Given the description of an element on the screen output the (x, y) to click on. 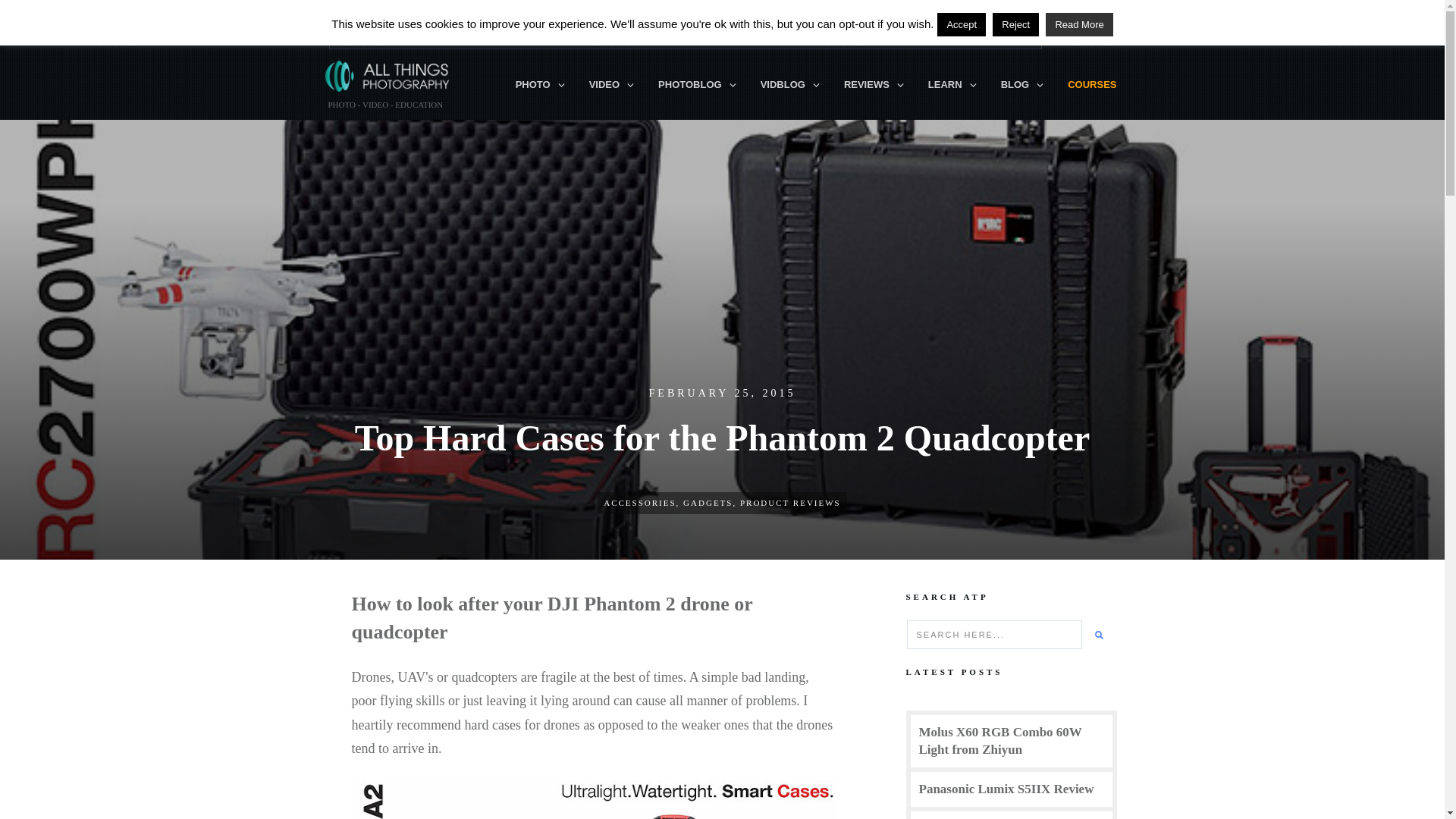
SEARCH (1078, 32)
Photography Tips (540, 85)
PHOTO (540, 85)
VIDEO (611, 85)
Video Tips and Tutorials (611, 85)
